Given the description of an element on the screen output the (x, y) to click on. 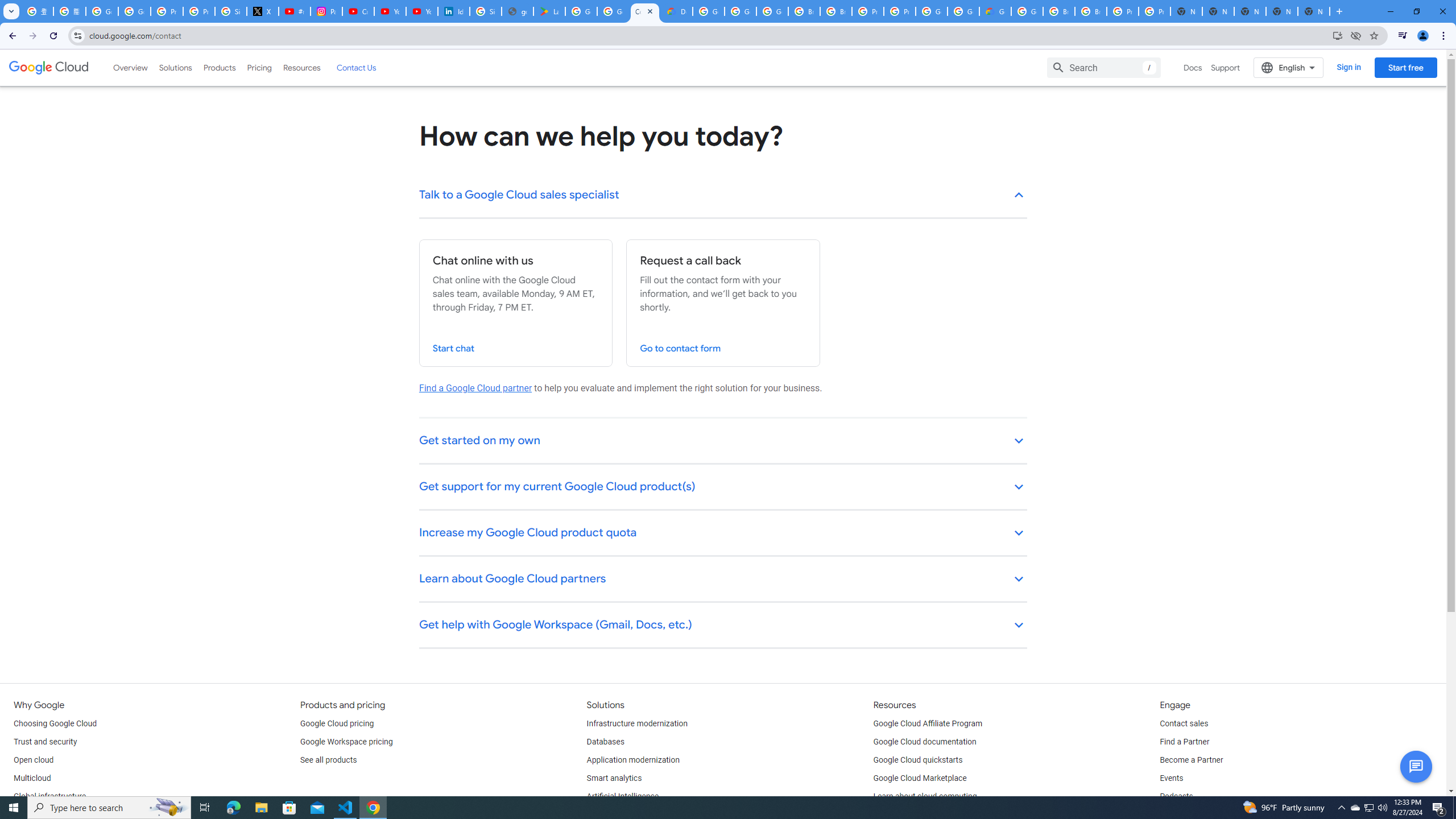
Sign in - Google Accounts (485, 11)
Google Cloud Affiliate Program (927, 723)
Artificial Intelligence (622, 796)
New Tab (1313, 11)
Google Cloud quickstarts (917, 760)
Google Cloud Marketplace (919, 778)
google_privacy_policy_en.pdf (517, 11)
Google Cloud Platform (963, 11)
Google Cloud Platform (931, 11)
